Given the description of an element on the screen output the (x, y) to click on. 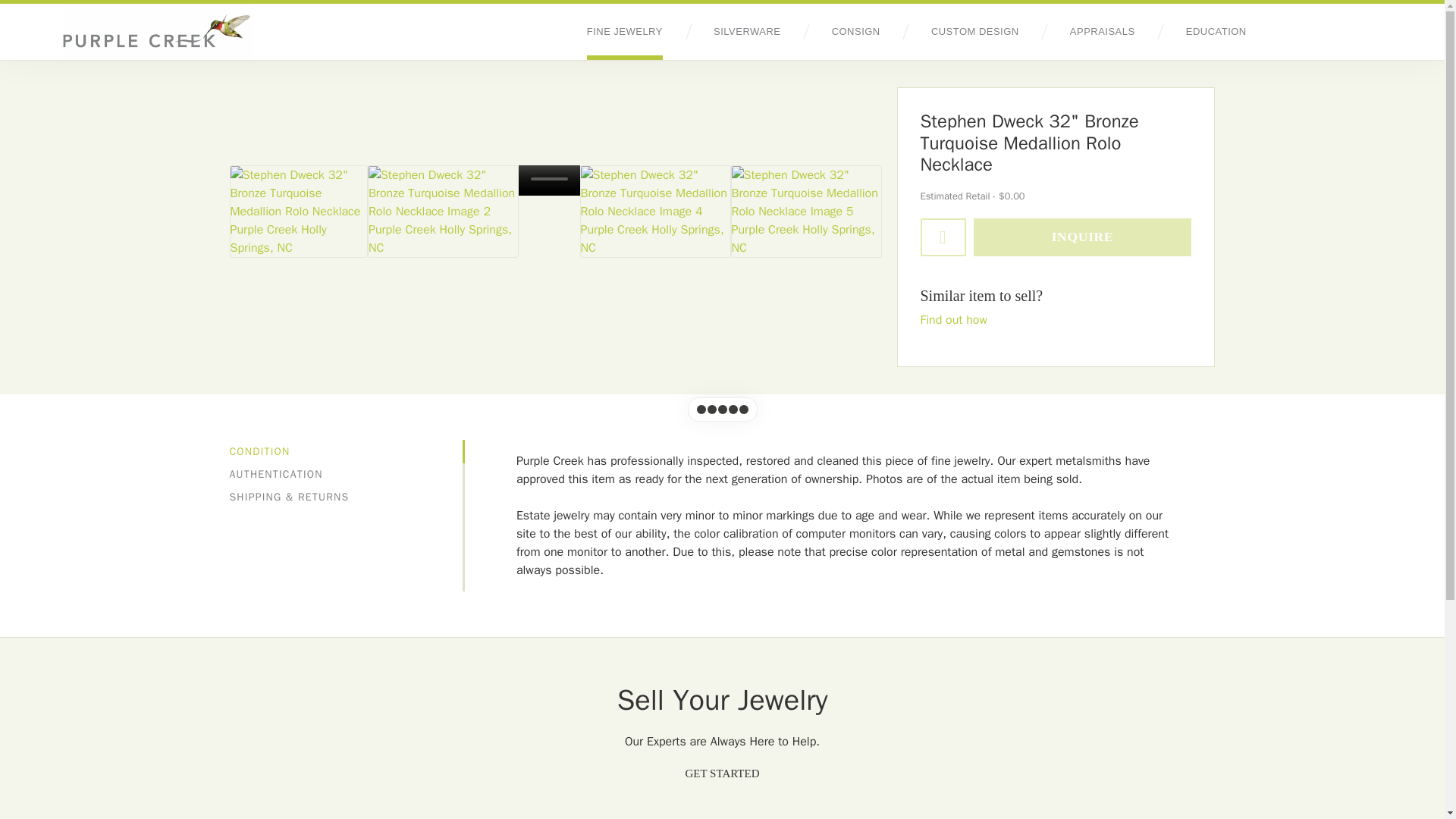
FINE JEWELRY (624, 31)
EDUCATION (1216, 31)
SILVERWARE (746, 31)
Skip to main content (7, 3)
CONSIGN (855, 31)
CUSTOM DESIGN (975, 31)
APPRAISALS (1102, 31)
